Given the description of an element on the screen output the (x, y) to click on. 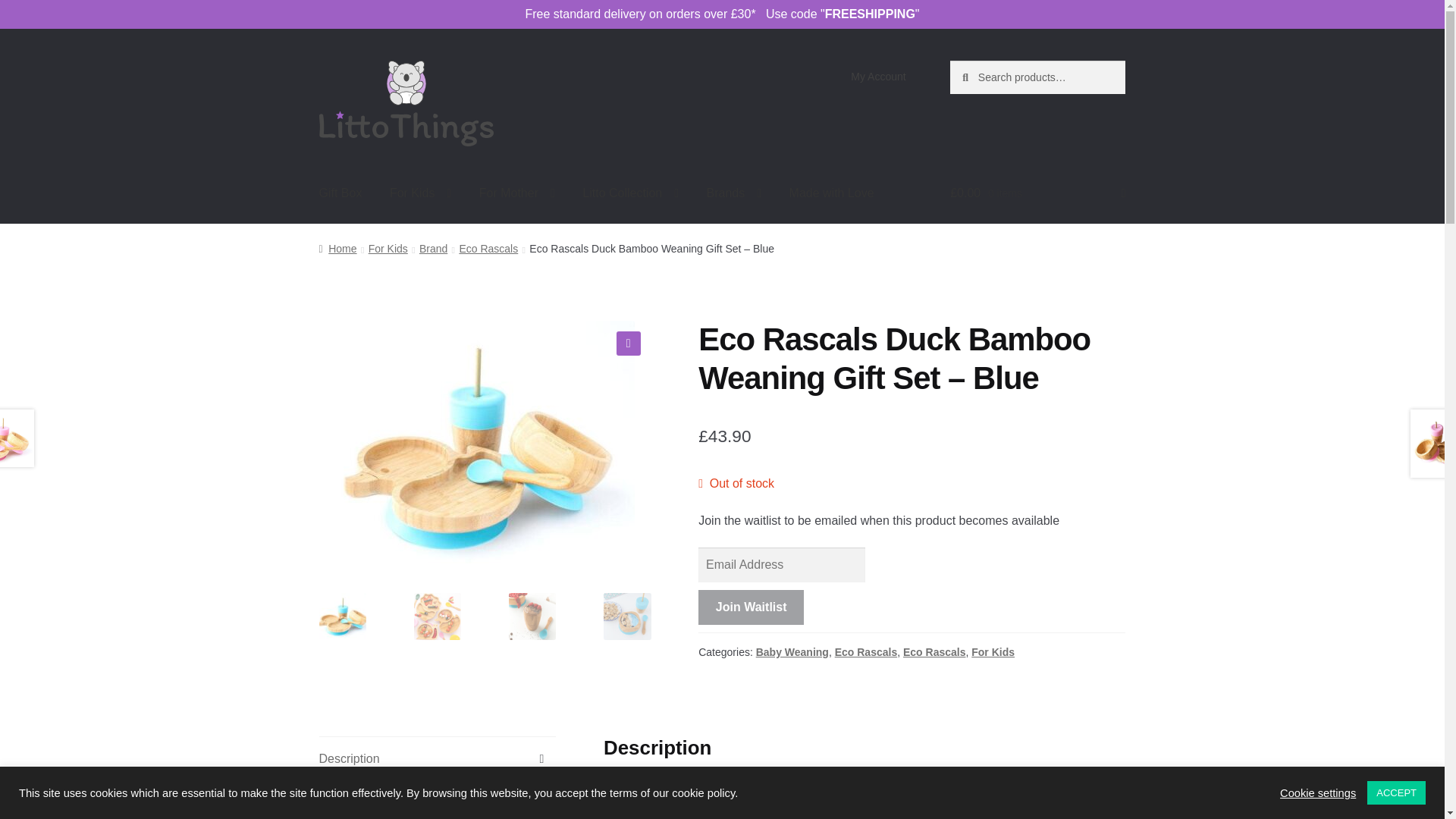
Duck Bamboo Weaning Gift Set Blue (476, 447)
Gift Box (340, 192)
Litto Collection (630, 192)
View your shopping cart (1037, 192)
For Kids (420, 192)
My Account (878, 76)
For Mother (517, 192)
Brands (734, 192)
